Given the description of an element on the screen output the (x, y) to click on. 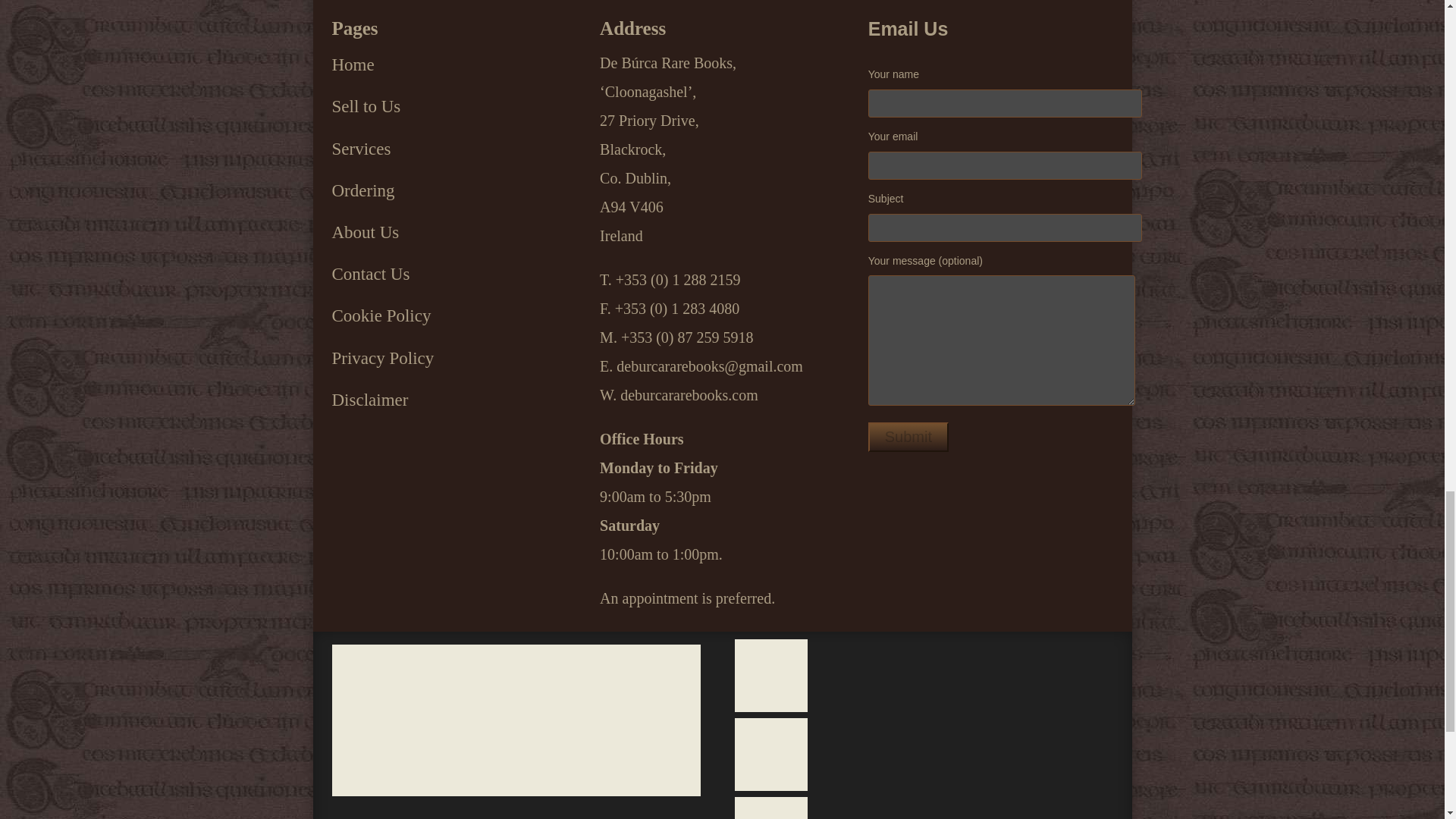
4-Logos-with-Text-2-350px (516, 720)
Submit (908, 437)
